Given the description of an element on the screen output the (x, y) to click on. 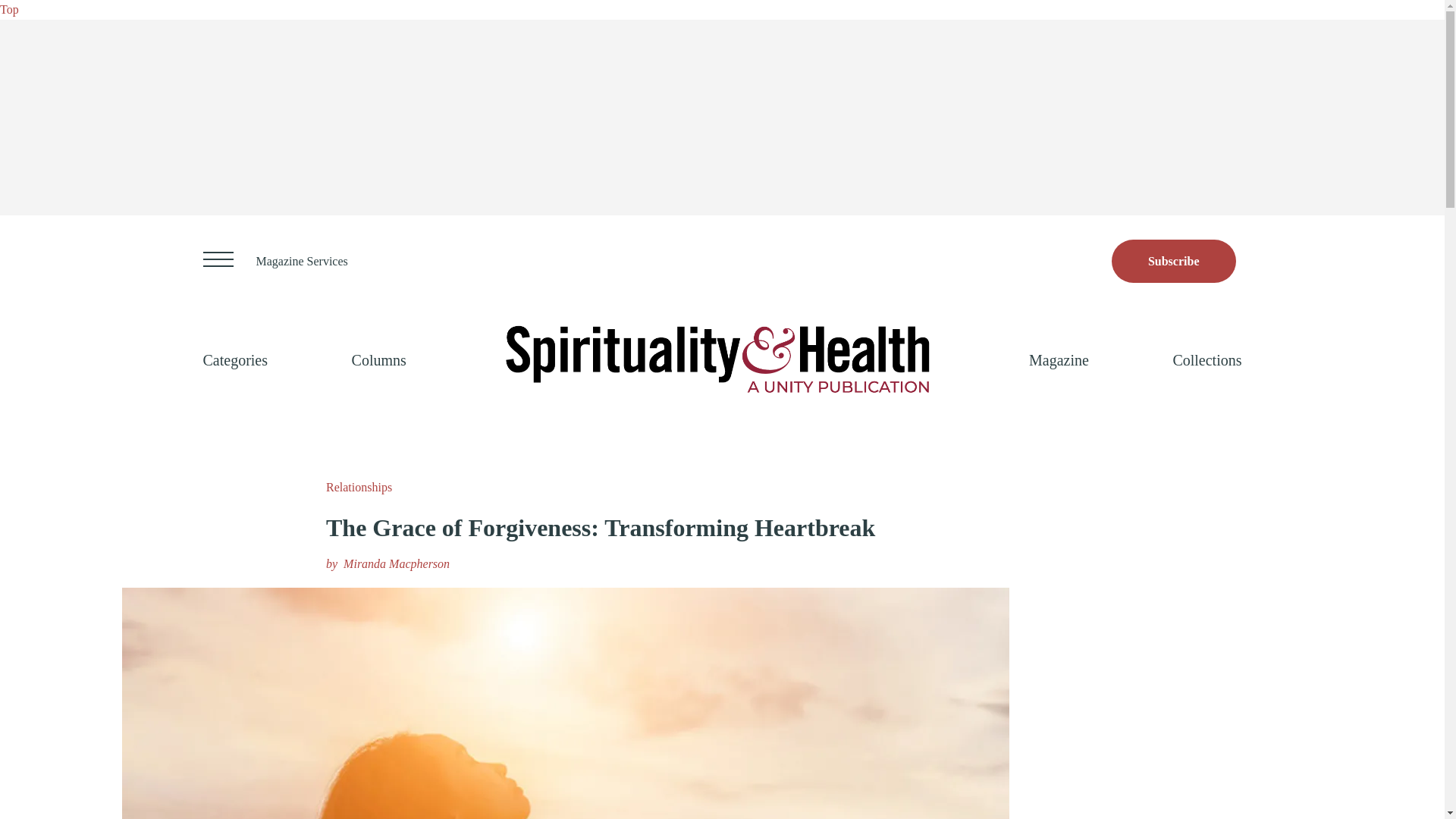
Collections (1206, 359)
Top (9, 9)
Magazine Services (301, 260)
Opens to Store site (1174, 261)
Categories (235, 359)
Columns (379, 359)
Magazine (1059, 359)
Subscribe (1174, 261)
